Given the description of an element on the screen output the (x, y) to click on. 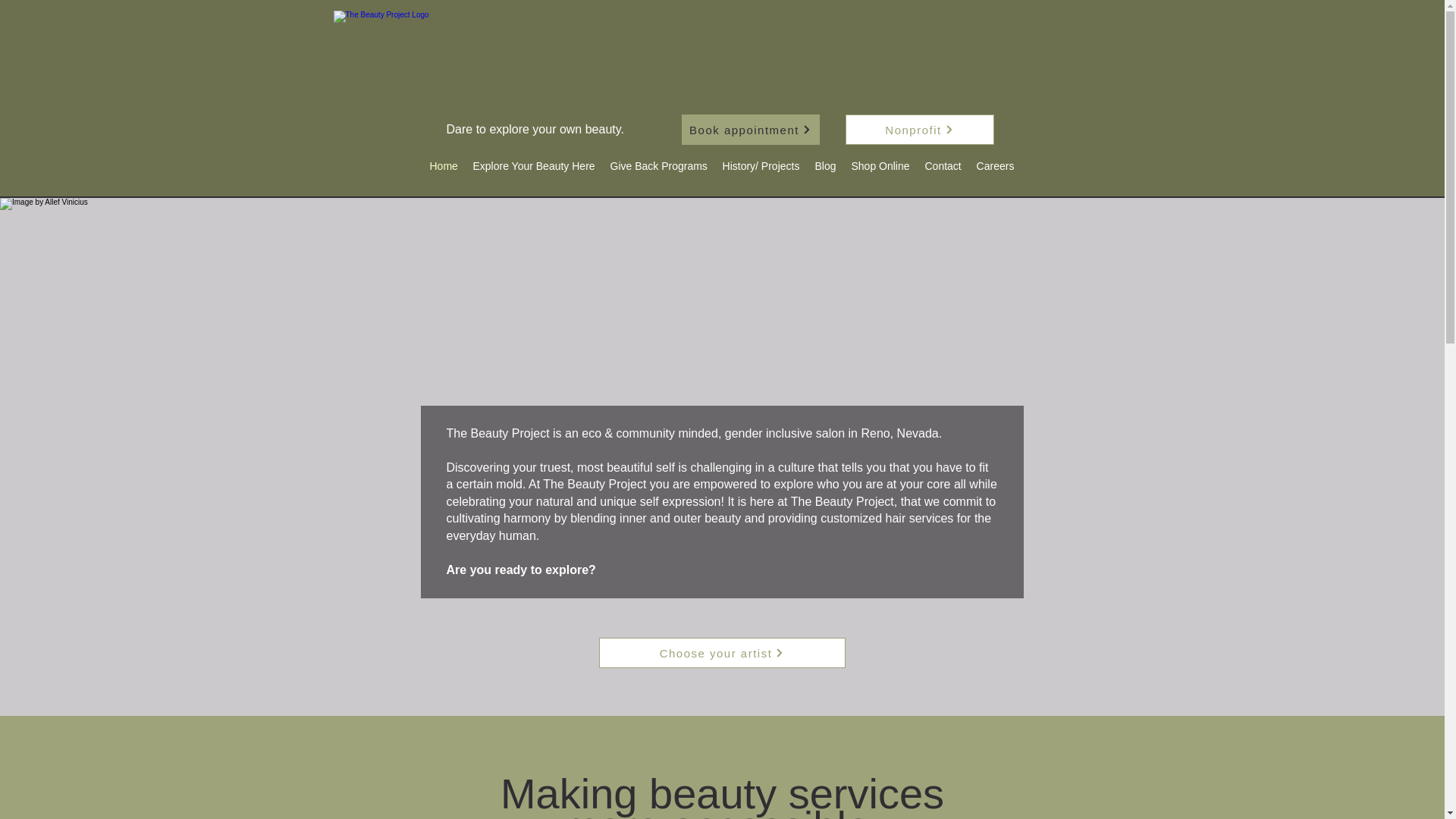
Shop Online (880, 165)
Book appointment (749, 129)
Blog (824, 165)
Careers (995, 165)
Choose your artist (721, 653)
Give Back Programs (658, 165)
Nonprofit (918, 129)
Home (443, 165)
Contact (943, 165)
